Given the description of an element on the screen output the (x, y) to click on. 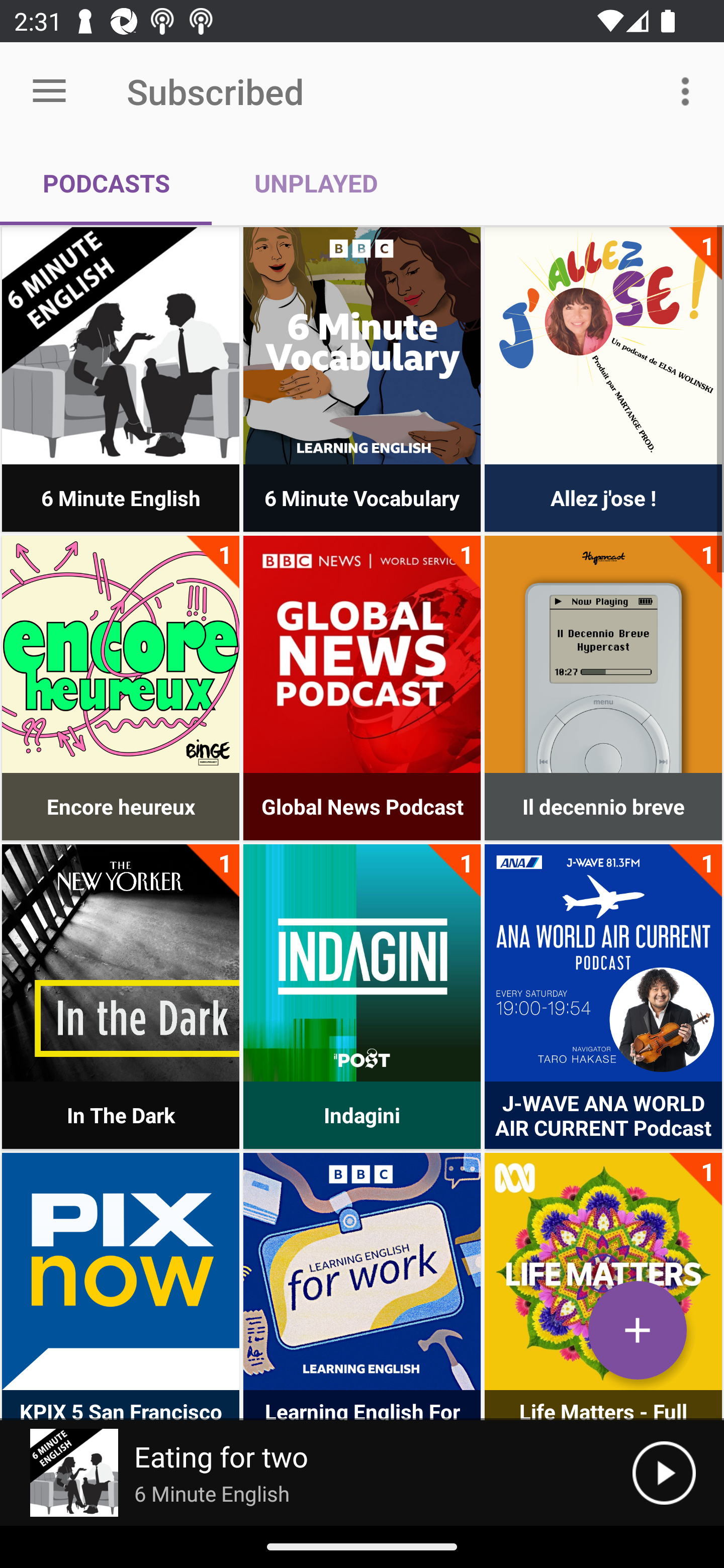
Open menu (49, 91)
More options (688, 90)
PODCASTS (105, 183)
UNPLAYED (315, 183)
6 Minute English (120, 345)
6 Minute Vocabulary (361, 345)
Allez j'ose ! (602, 345)
Encore heureux (120, 654)
Global News Podcast (361, 654)
Il decennio breve (602, 654)
In The Dark (120, 962)
Indagini (361, 962)
J-WAVE ANA WORLD AIR CURRENT Podcast (602, 962)
KPIX 5 San Francisco Bay Area (120, 1271)
Learning English For Work (361, 1271)
Life Matters - Full program podcast (602, 1271)
Picture Eating for two 6 Minute English (316, 1472)
Play (663, 1472)
